Given the description of an element on the screen output the (x, y) to click on. 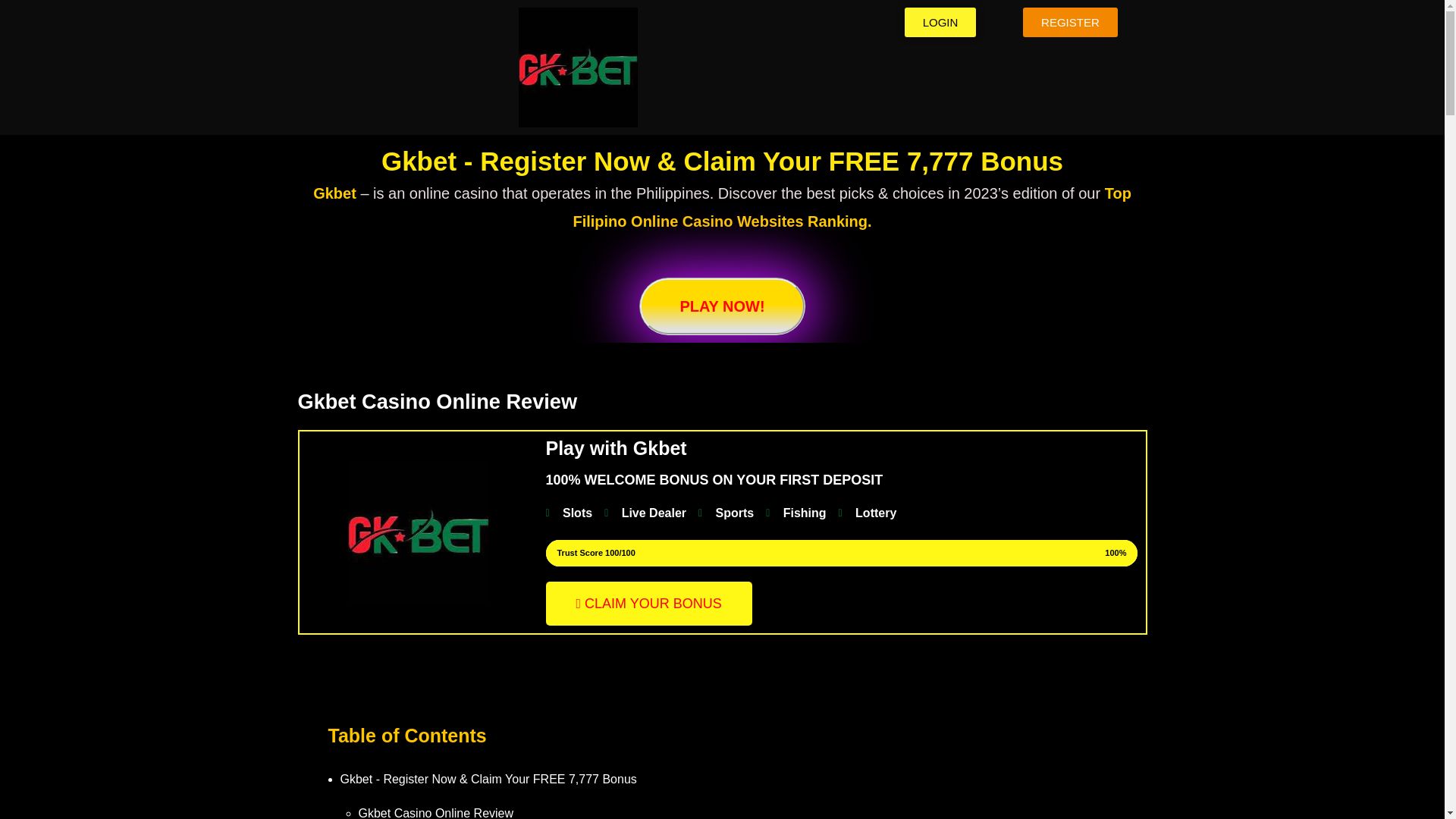
LOGIN (940, 21)
REGISTER (1070, 21)
Gkbet Casino Online Review (435, 812)
PLAY NOW! (722, 305)
Play with Gkbet (616, 447)
Gkbet Casino Online Review (436, 401)
CLAIM YOUR BONUS (649, 603)
